Given the description of an element on the screen output the (x, y) to click on. 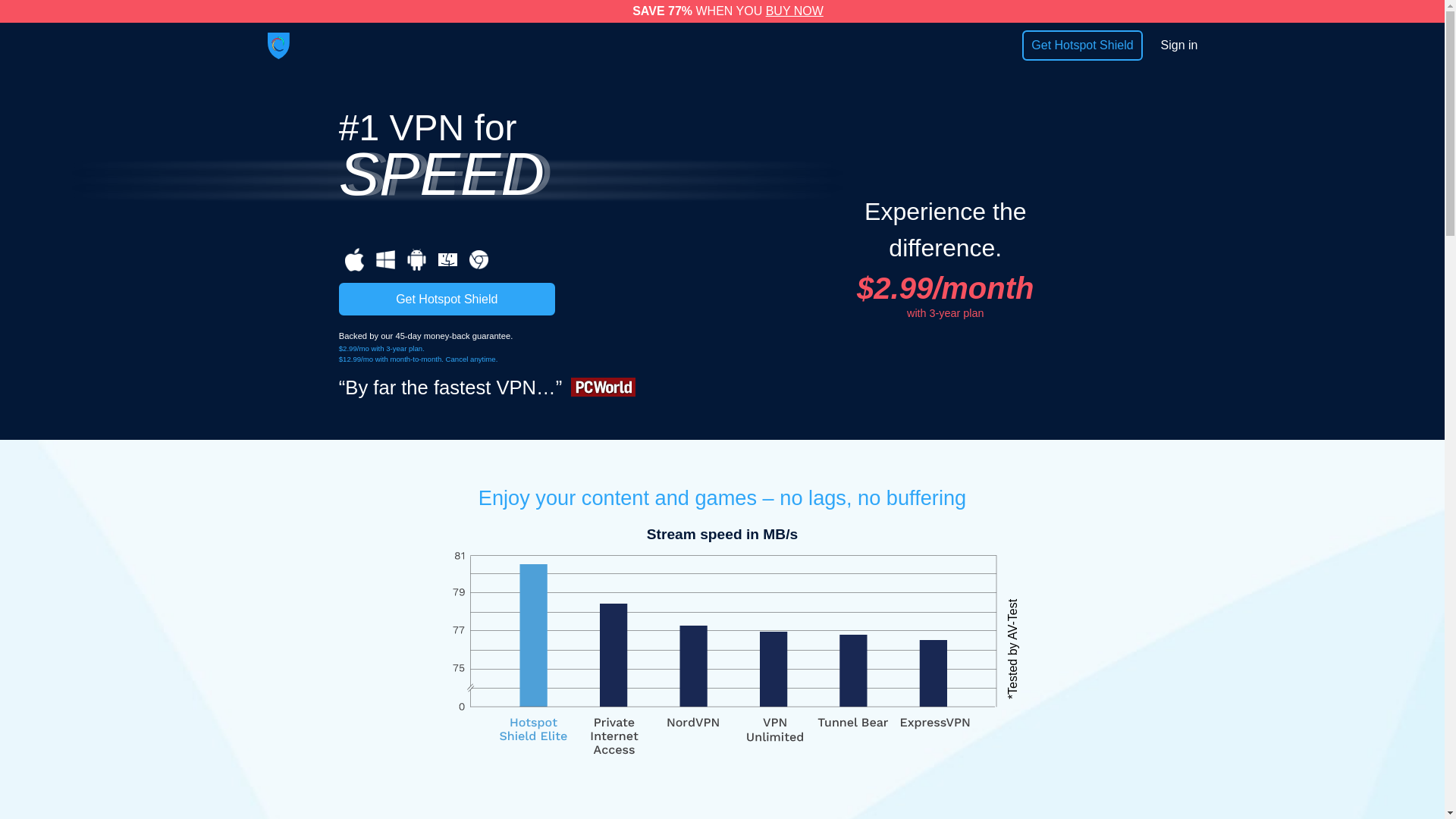
Sign in (1179, 44)
BUY NOW (794, 11)
Get Hotspot Shield (446, 298)
Get Hotspot Shield (1081, 45)
